Given the description of an element on the screen output the (x, y) to click on. 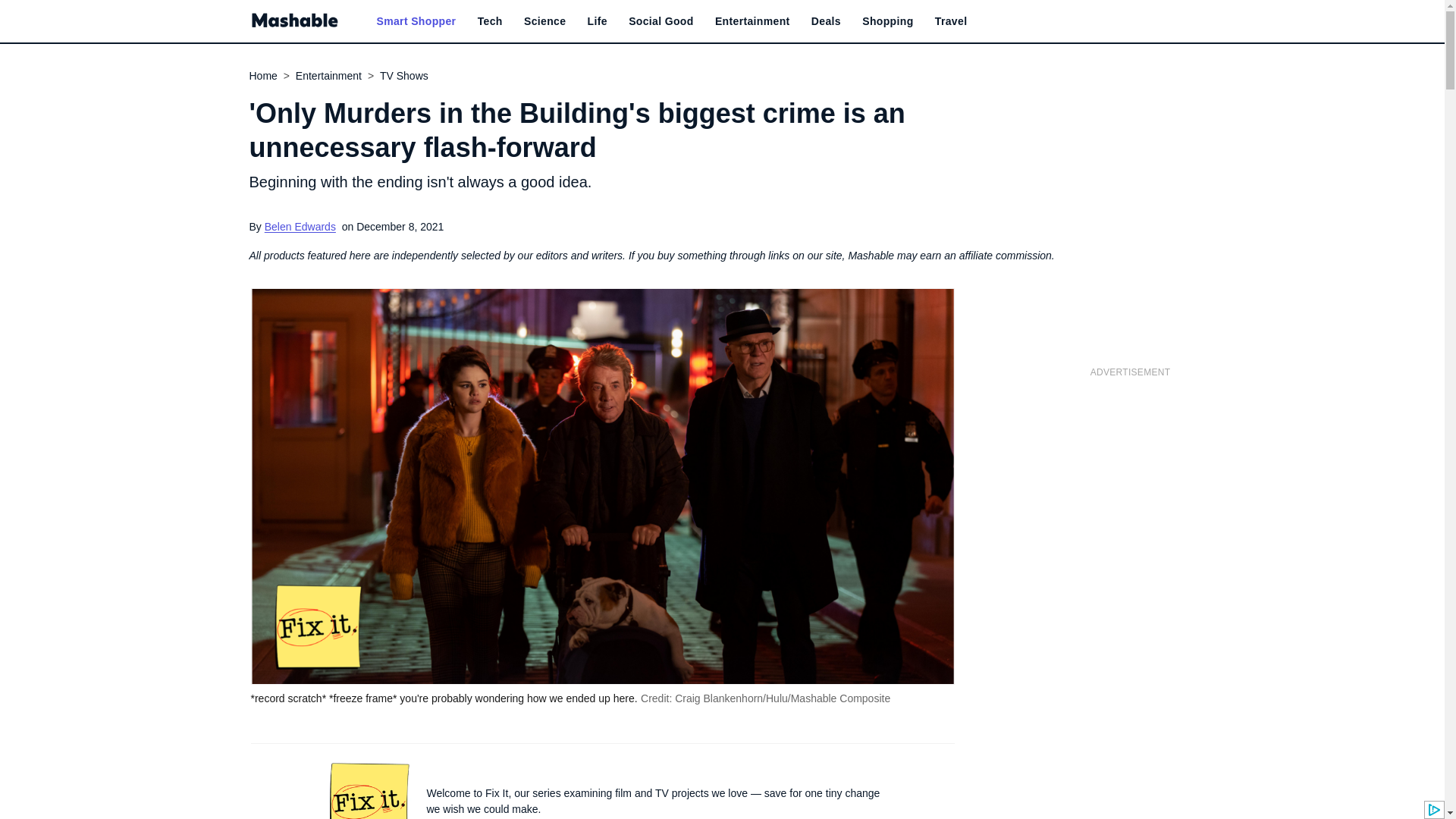
Smart Shopper (415, 21)
Entertainment (752, 21)
Shopping (886, 21)
Deals (825, 21)
Travel (951, 21)
Social Good (661, 21)
Tech (489, 21)
Science (545, 21)
Life (597, 21)
